Given the description of an element on the screen output the (x, y) to click on. 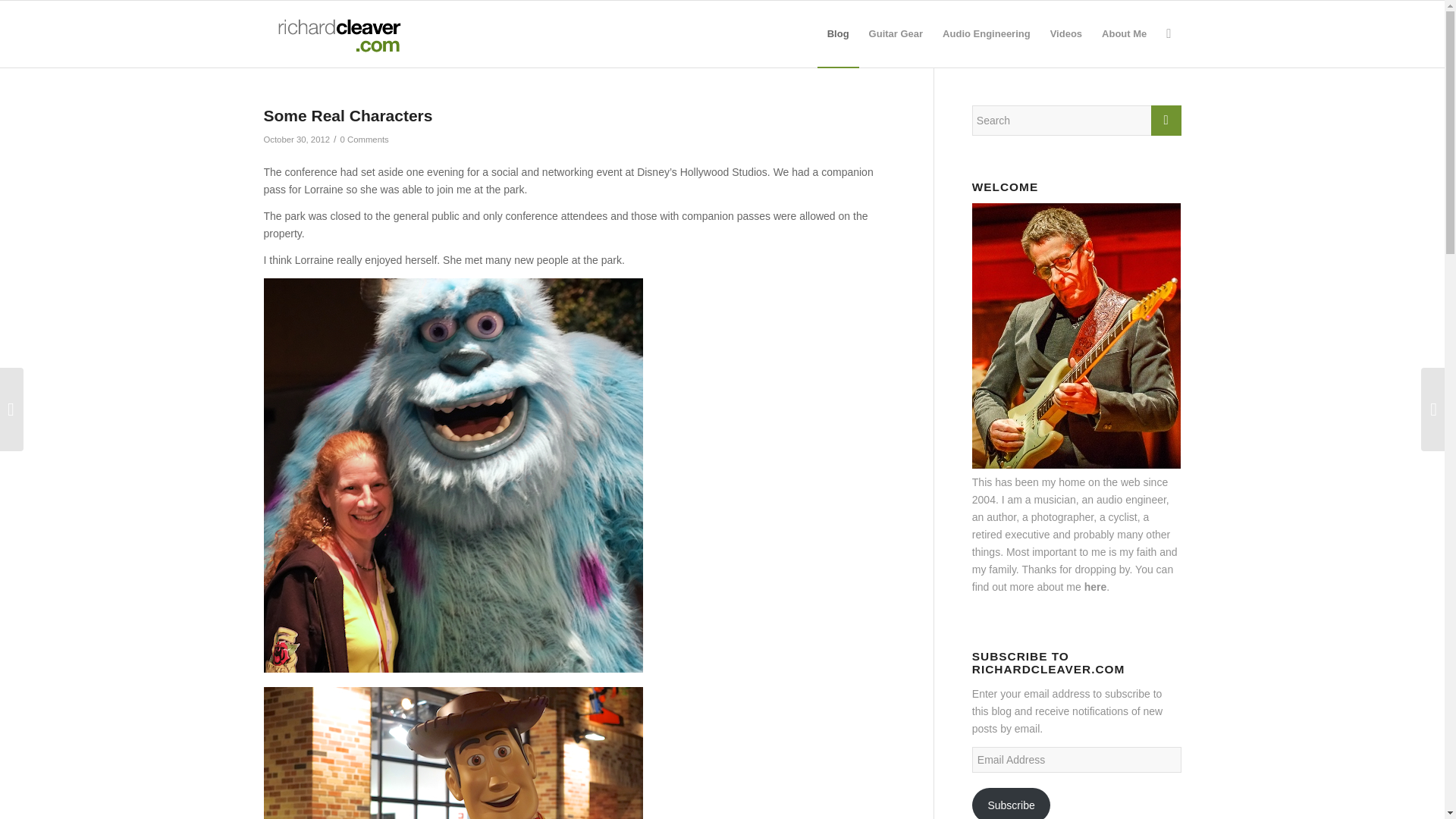
DSCF2984 (453, 753)
here (1095, 586)
Audio Engineering (987, 33)
0 Comments (364, 139)
About Me (1124, 33)
Subscribe (1011, 803)
Guitar Gear (896, 33)
rcdotcomlogo (336, 33)
